Given the description of an element on the screen output the (x, y) to click on. 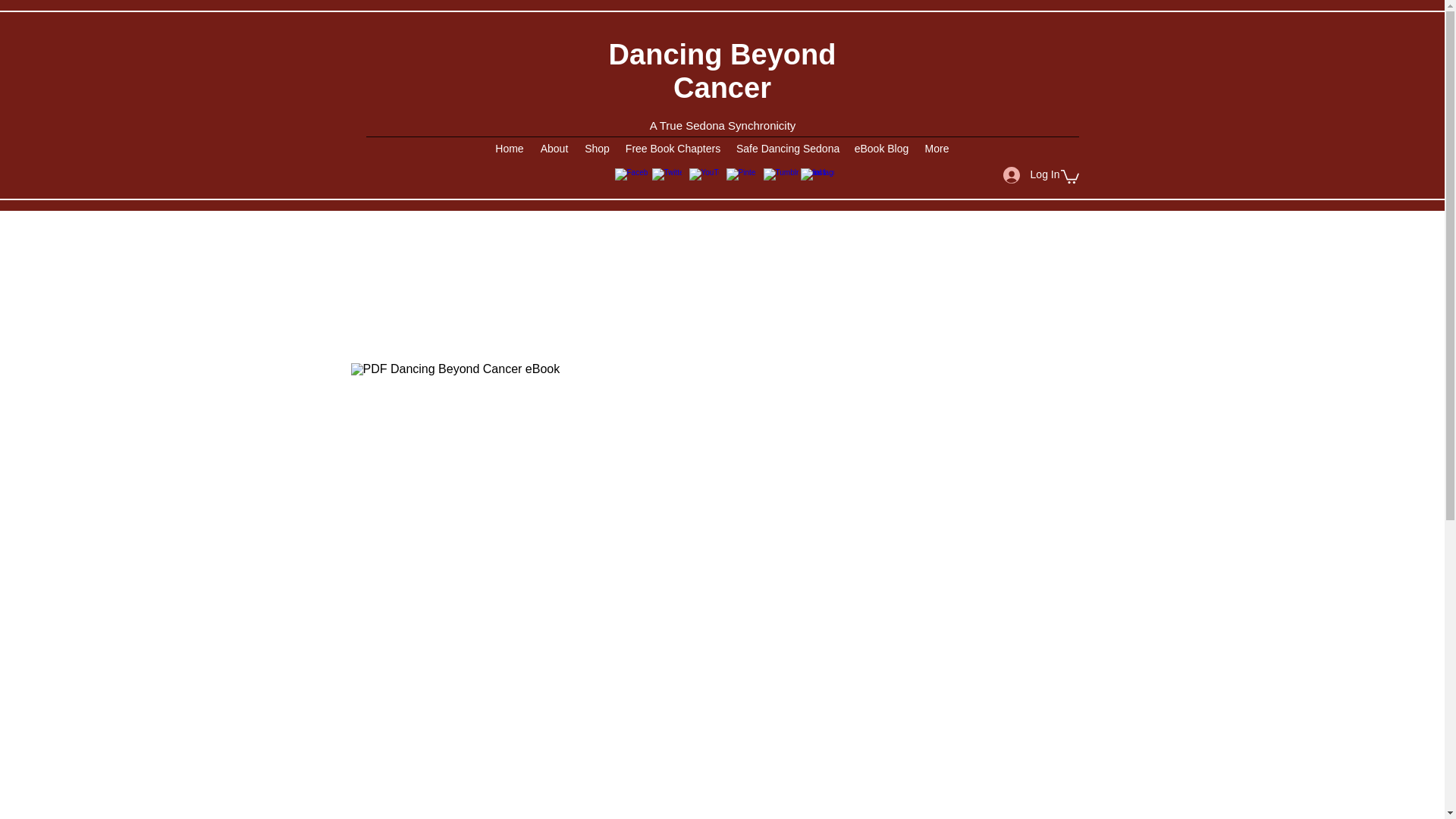
Safe Dancing Sedona (787, 148)
Log In (1031, 174)
Shop (596, 148)
eBook Blog (881, 148)
About (553, 148)
Home (509, 148)
Dancing Beyond Cancer (721, 71)
Free Book Chapters (673, 148)
